Given the description of an element on the screen output the (x, y) to click on. 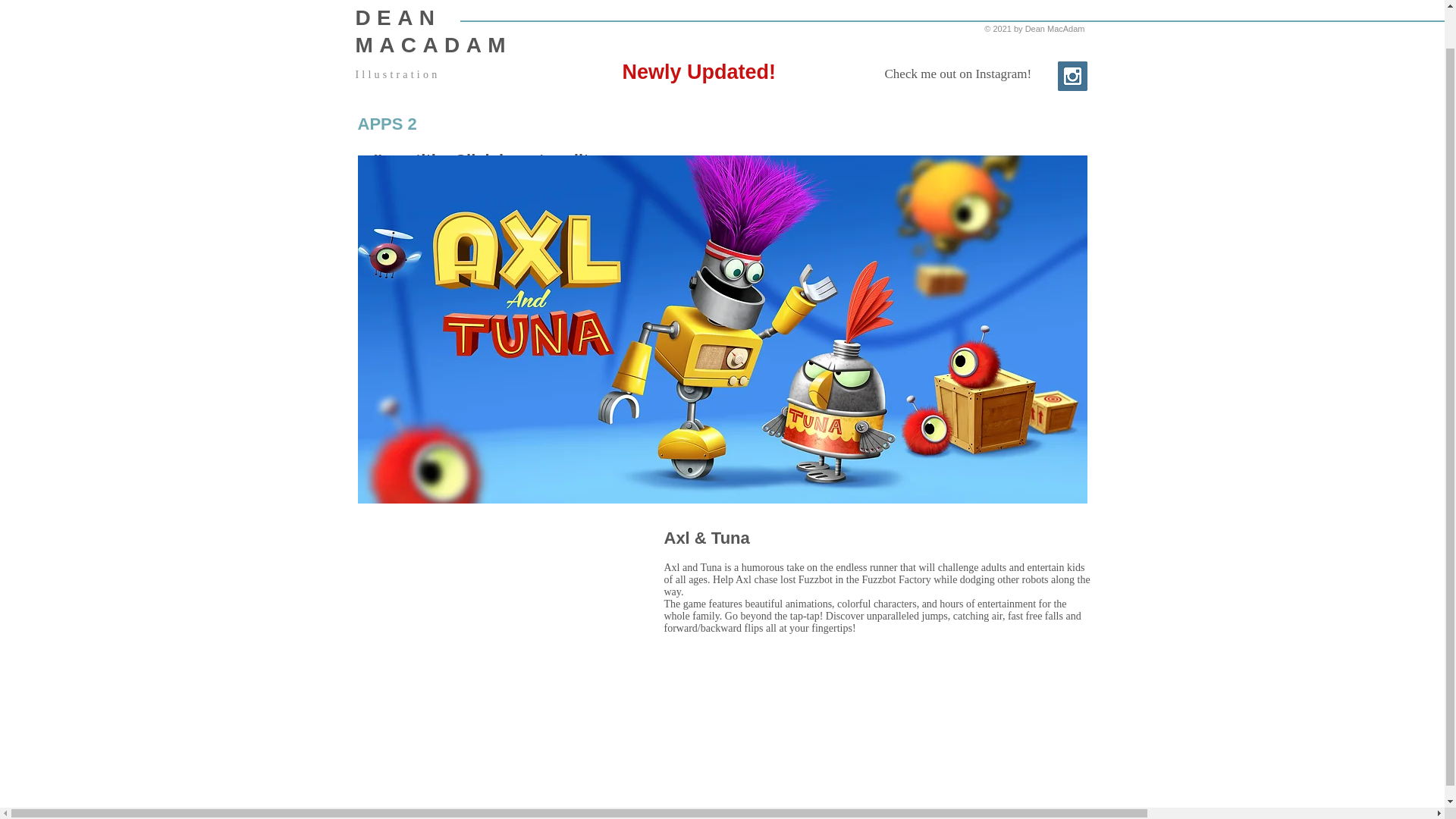
Illustration (397, 74)
DEAN (398, 17)
External YouTube (486, 630)
MACADAM (433, 44)
